Given the description of an element on the screen output the (x, y) to click on. 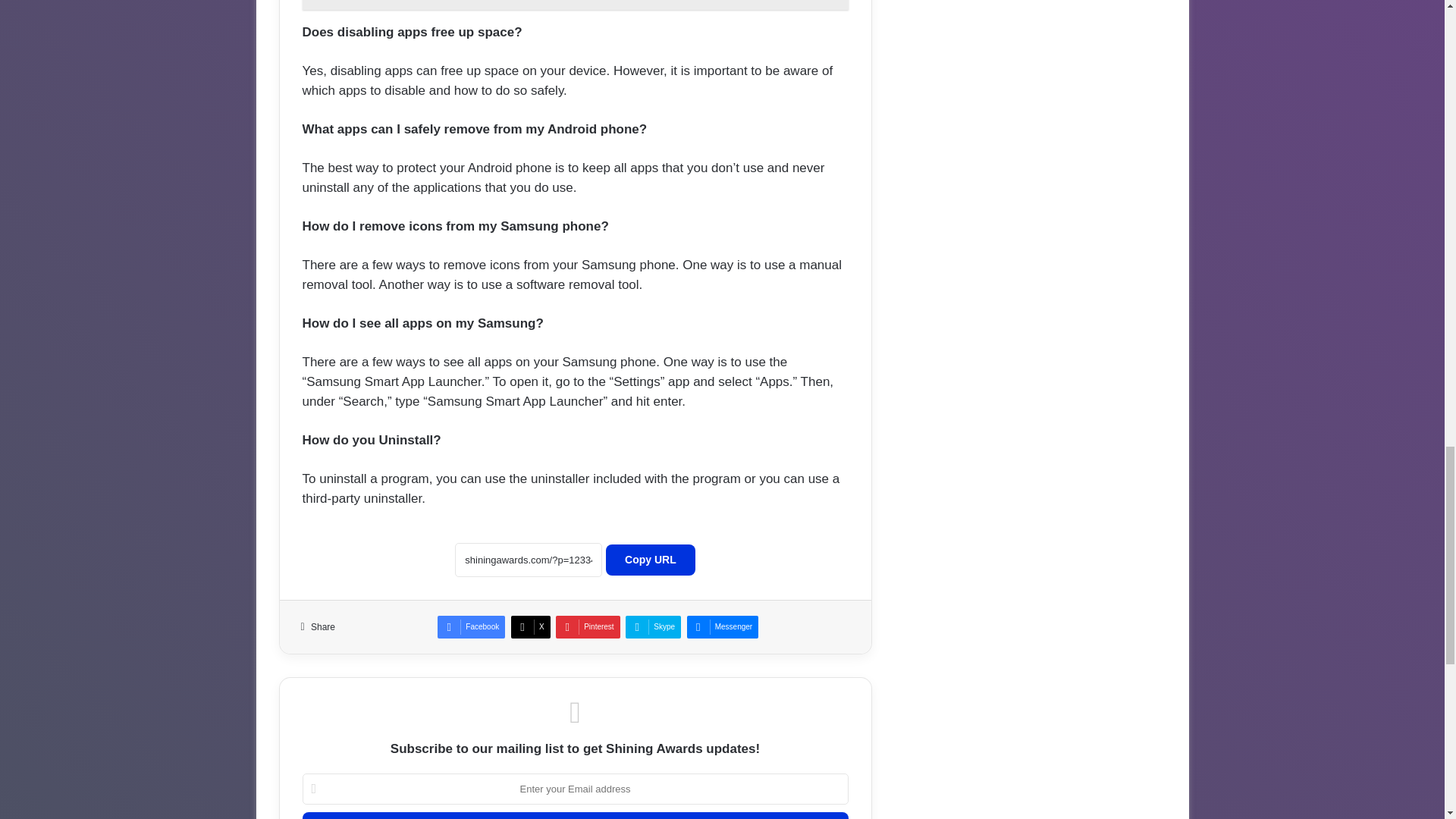
Pinterest (588, 626)
Skype (653, 626)
Skype (653, 626)
Pinterest (588, 626)
X (530, 626)
Subscribe (574, 815)
Facebook (471, 626)
Copy URL (650, 559)
X (530, 626)
Messenger (722, 626)
